Given the description of an element on the screen output the (x, y) to click on. 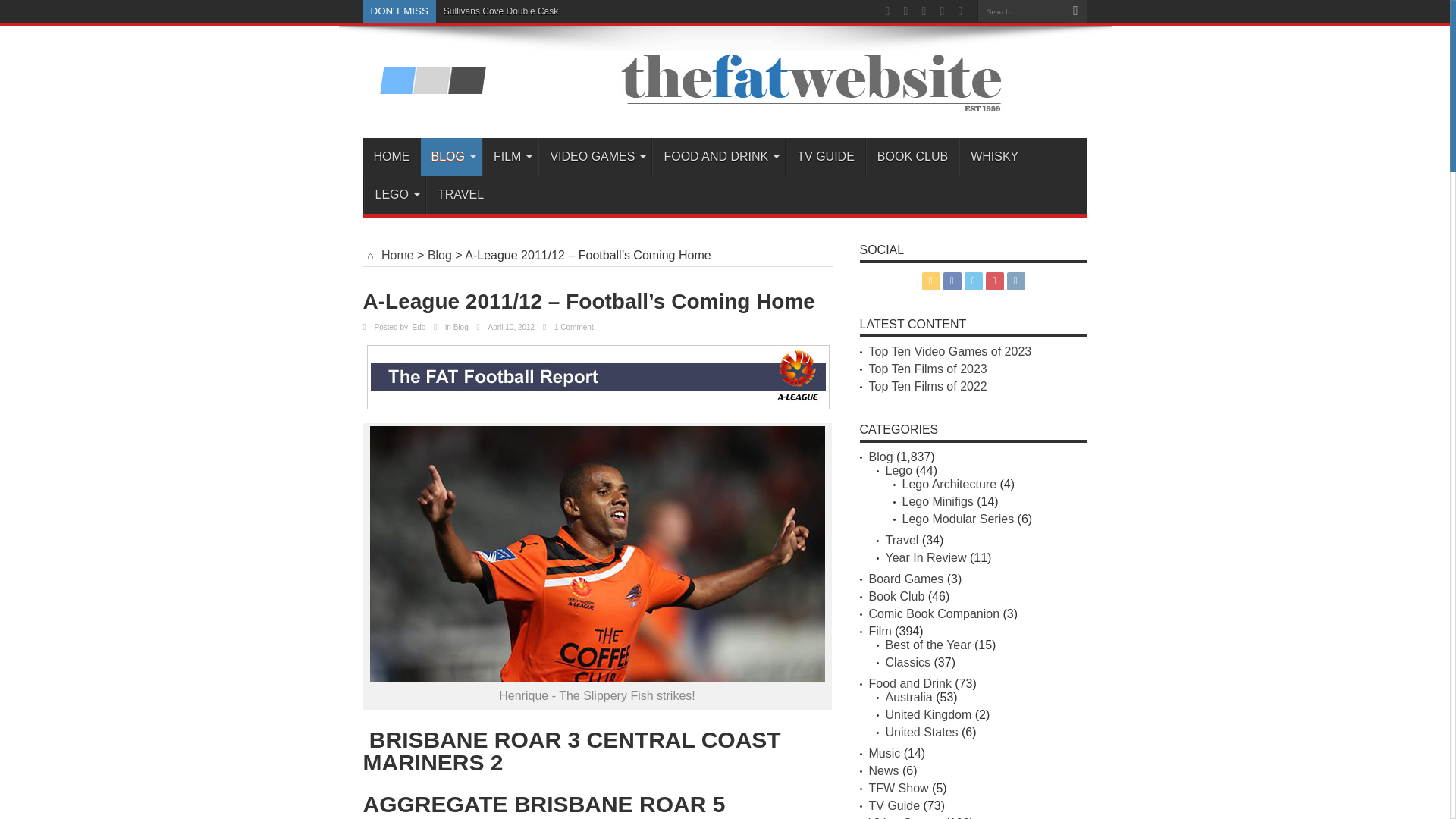
Blog (460, 326)
TRAVEL (460, 194)
1 Comment (574, 326)
Sullivans Cove Double Cask (500, 11)
Search... (1020, 11)
LEGO (394, 194)
tagfootball (597, 376)
BLOG (450, 157)
VIDEO GAMES (594, 157)
BOOK CLUB (912, 157)
FILM (509, 157)
Blog (439, 254)
Search (1075, 11)
FOOD AND DRINK (718, 157)
roarfinalagain (597, 553)
